Given the description of an element on the screen output the (x, y) to click on. 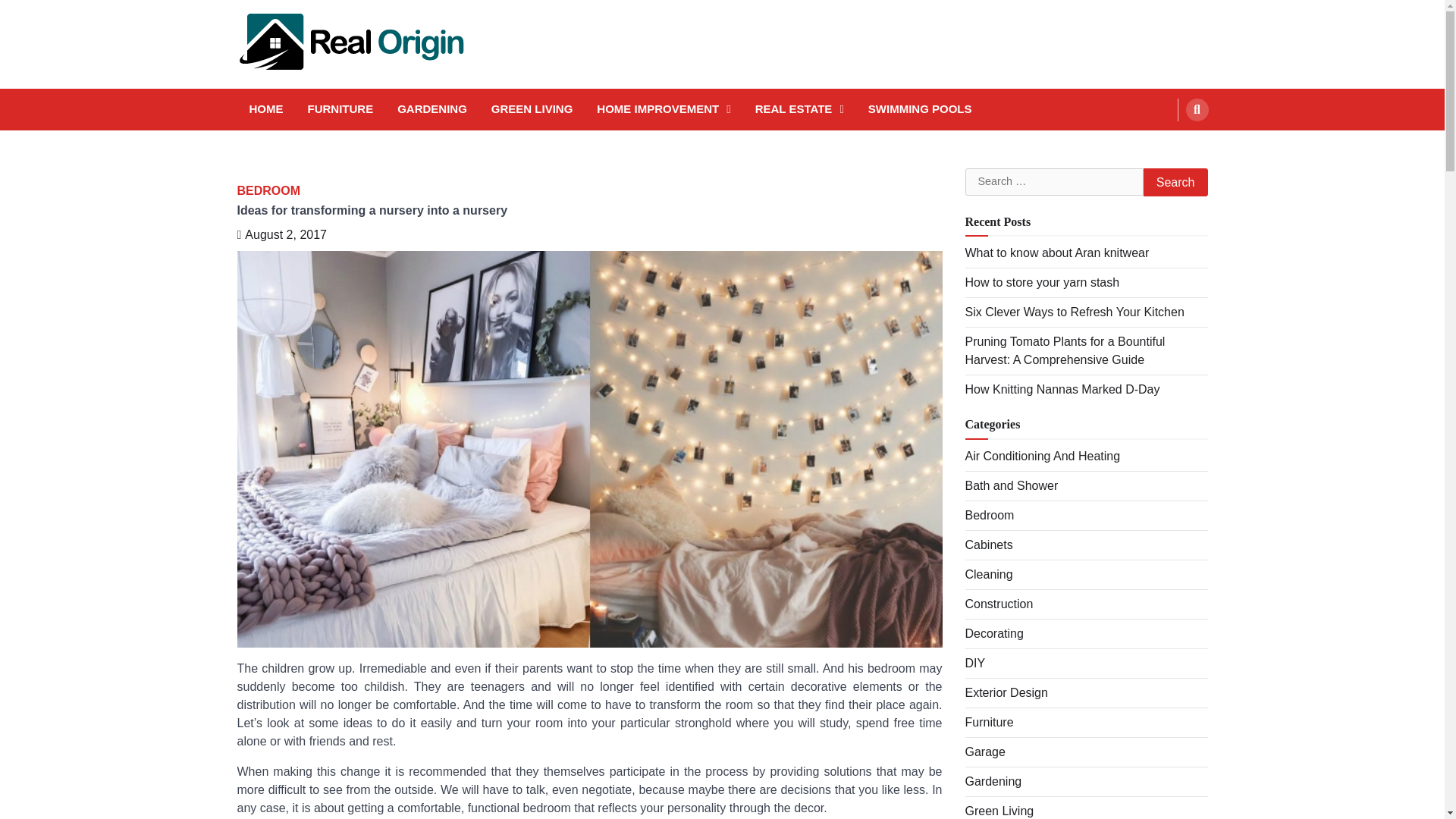
HOME (265, 108)
BEDROOM (267, 190)
Search (1175, 182)
REAL ESTATE (799, 108)
GARDENING (432, 108)
SWIMMING POOLS (919, 108)
Real and Origin (277, 83)
HOME IMPROVEMENT (663, 108)
GREEN LIVING (531, 108)
Search (1197, 109)
